Given the description of an element on the screen output the (x, y) to click on. 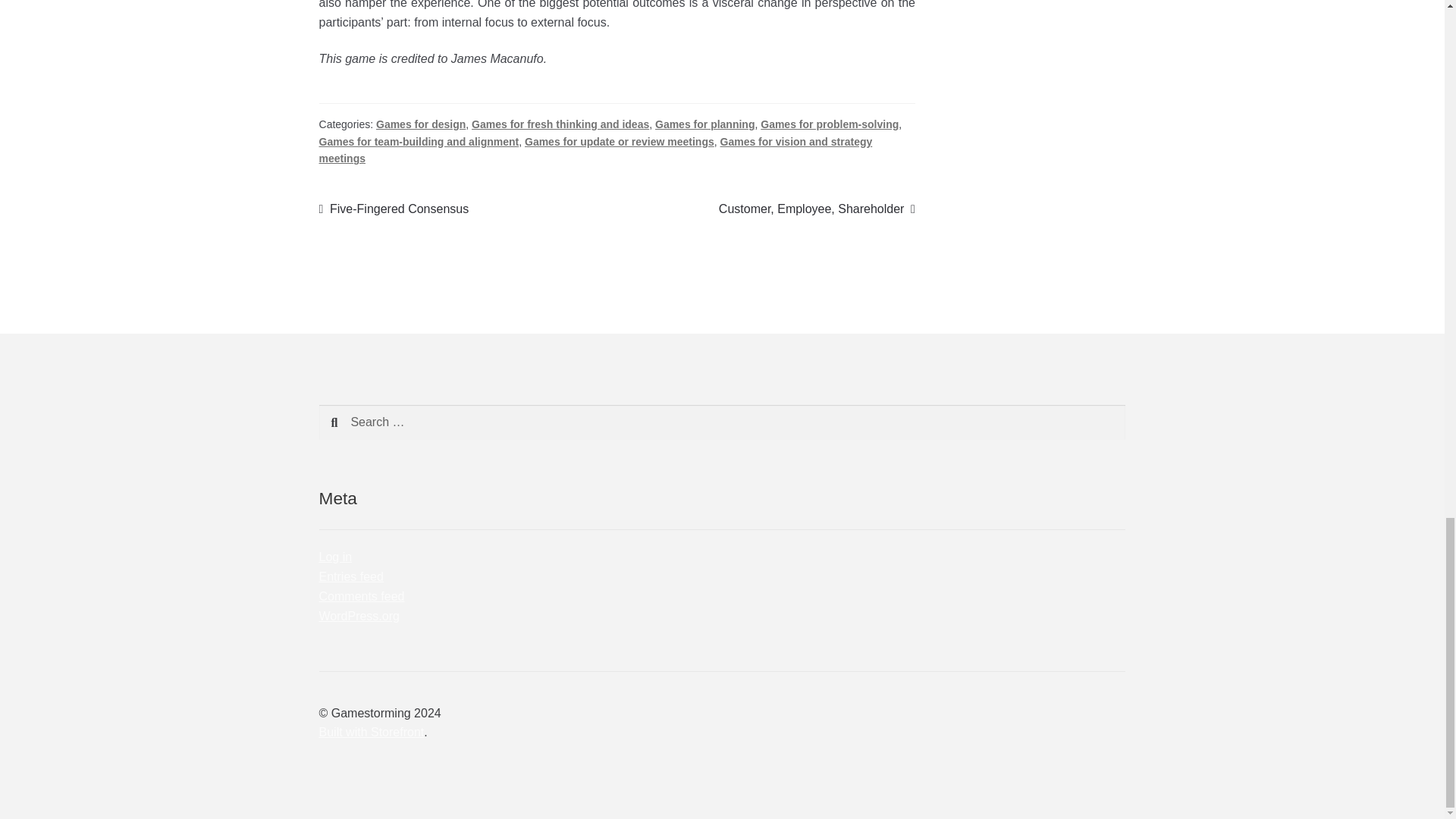
Games for design (420, 123)
Games for vision and strategy meetings (595, 150)
Games for update or review meetings (619, 141)
Games for team-building and alignment (418, 141)
Games for fresh thinking and ideas (560, 123)
Games for problem-solving (829, 123)
Games for planning (704, 123)
